Given the description of an element on the screen output the (x, y) to click on. 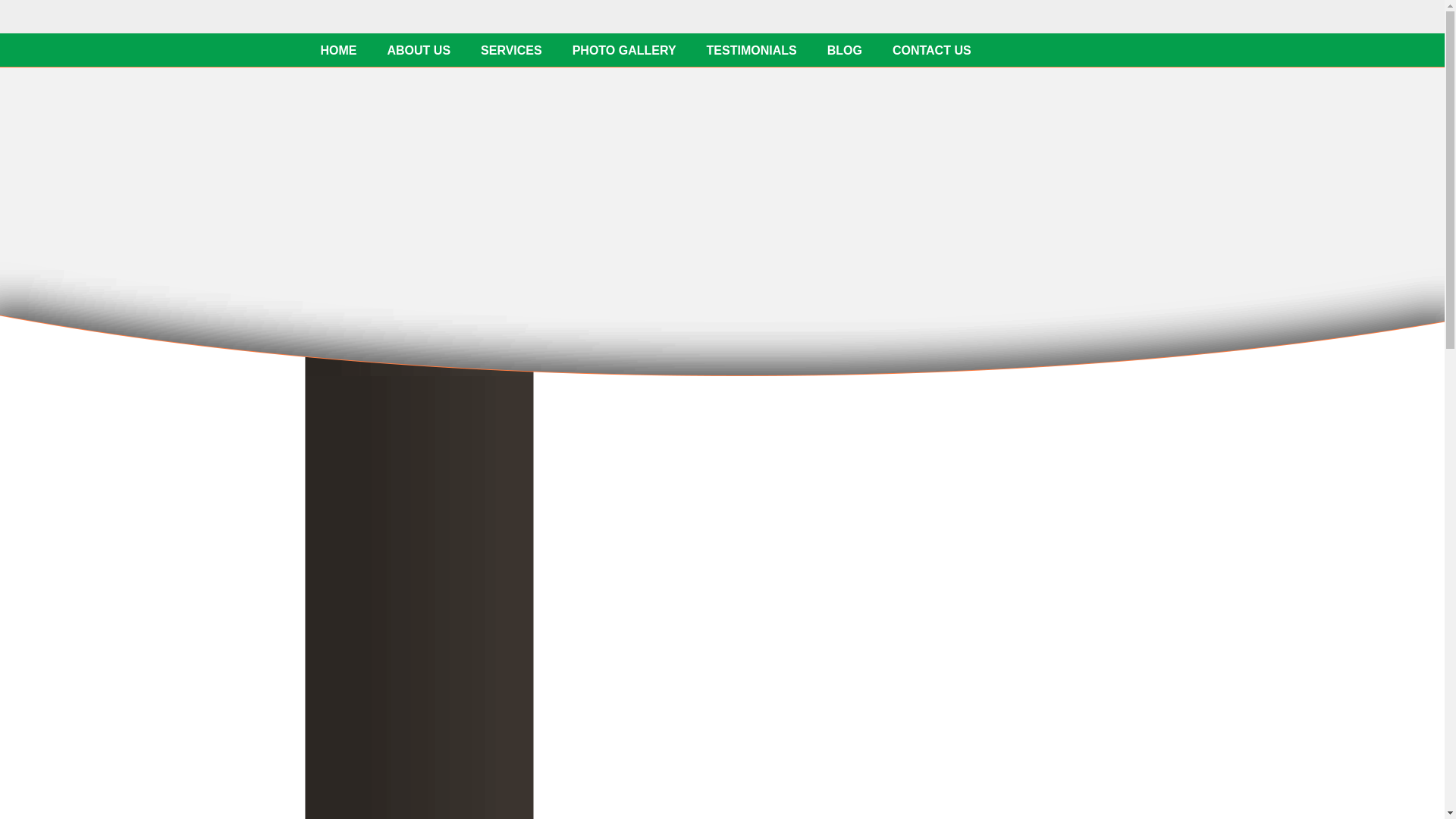
SERVICES (511, 49)
ABOUT US (418, 49)
PHOTO GALLERY (624, 49)
CONTACT US (932, 49)
HOME (337, 49)
BLOG (844, 49)
TESTIMONIALS (751, 49)
